Given the description of an element on the screen output the (x, y) to click on. 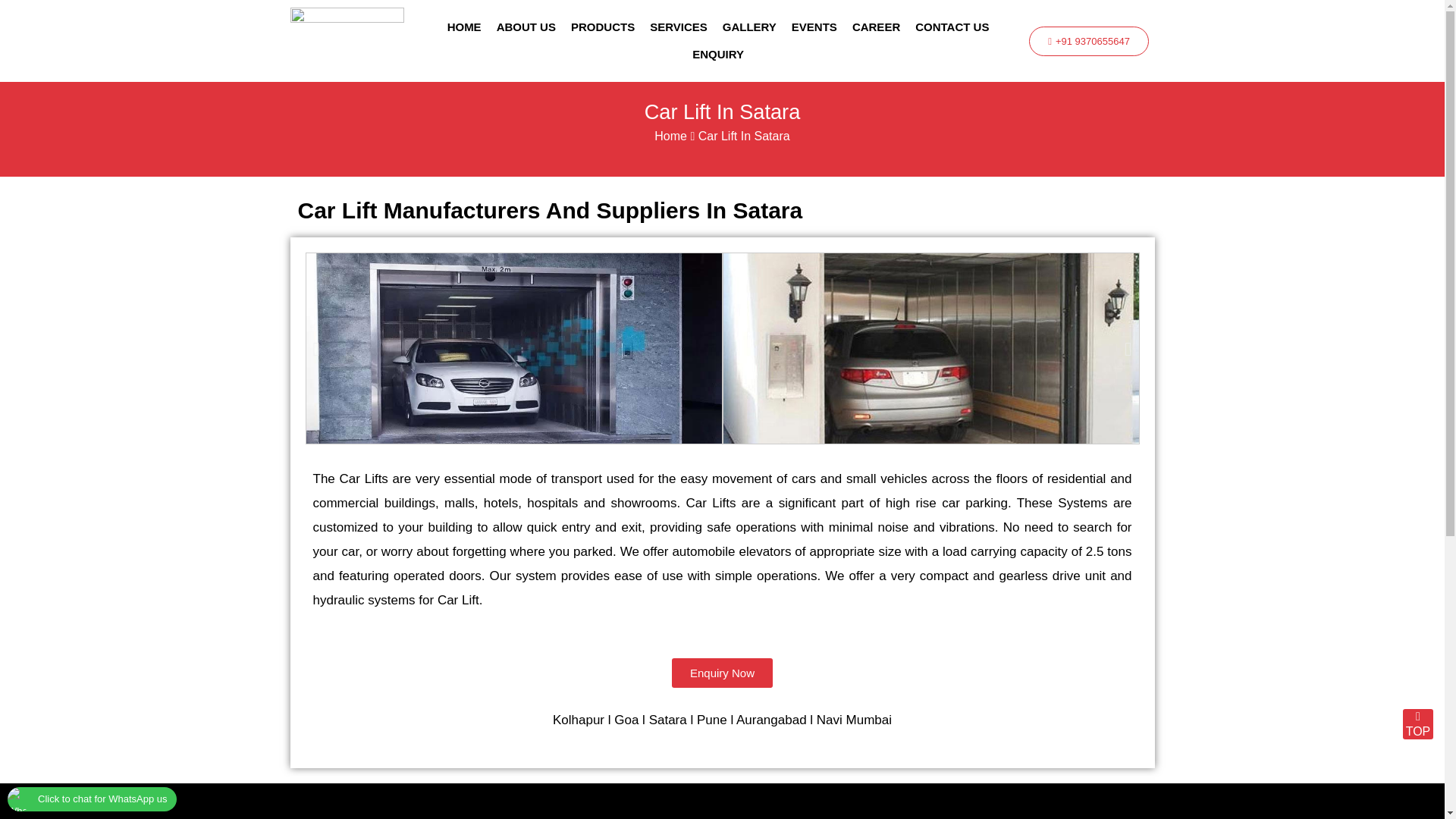
ENQUIRY (717, 53)
HOME (464, 26)
EVENTS (814, 26)
SERVICES (678, 26)
PRODUCTS (602, 26)
CONTACT US (951, 26)
CAREER (875, 26)
ABOUT US (526, 26)
GALLERY (749, 26)
